Given the description of an element on the screen output the (x, y) to click on. 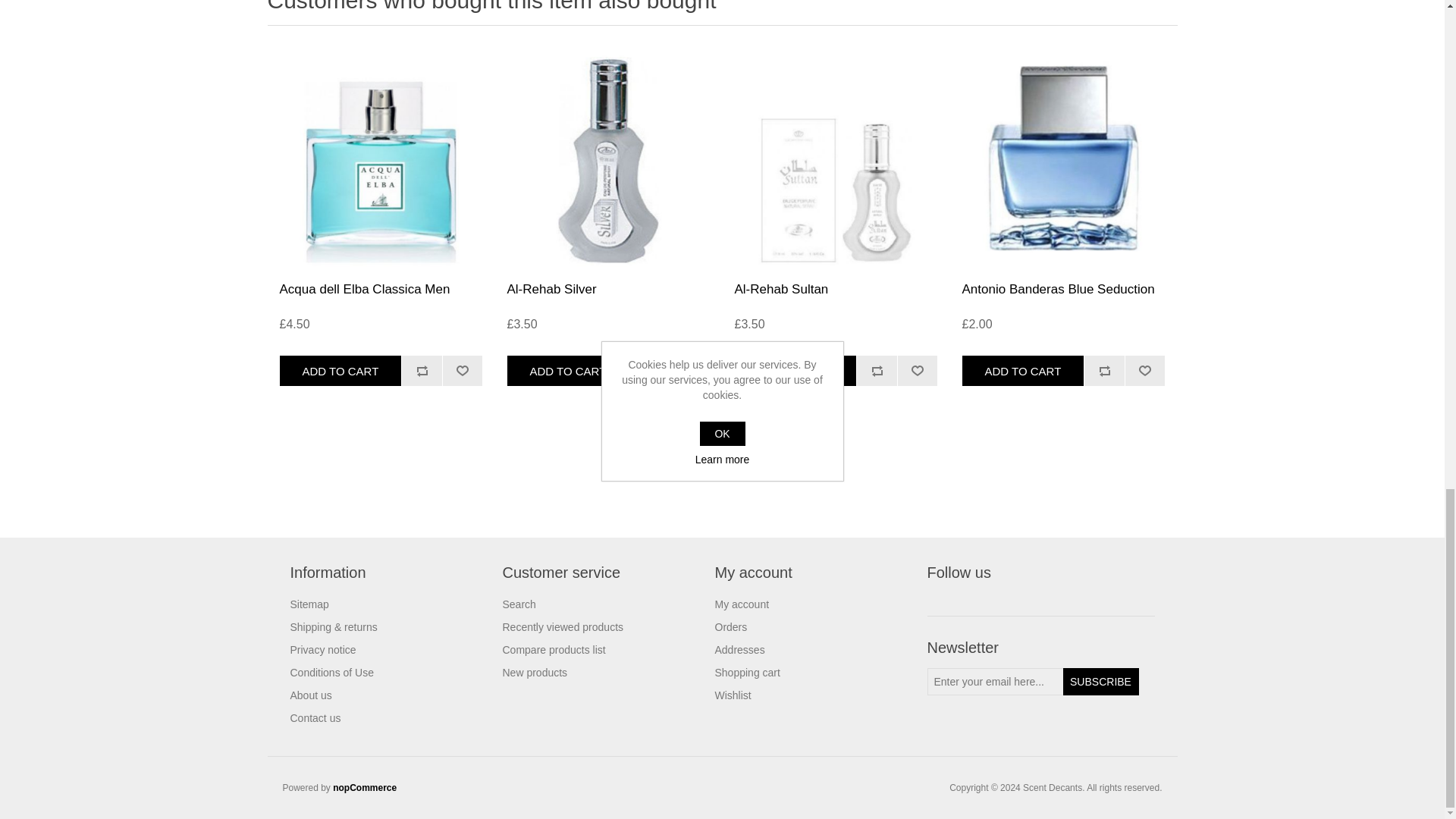
ADD TO CART (340, 370)
Show details for Al-Rehab Sultan (835, 157)
Show details for Al-Rehab Silver (608, 157)
Add to wishlist (916, 370)
Show details for Acqua dell Elba Classica Men (379, 157)
Acqua dell Elba Classica Men (380, 289)
Show details for Antonio Banderas Blue Seduction (1062, 157)
Add to wishlist (462, 370)
Show details for Acqua dell Elba Classica Men (381, 157)
Add to compare list (648, 370)
Add to wishlist (462, 370)
Show details for Al-Rehab Silver (608, 157)
Add to wishlist (689, 370)
Add to compare list (421, 370)
Add to compare list (876, 370)
